Given the description of an element on the screen output the (x, y) to click on. 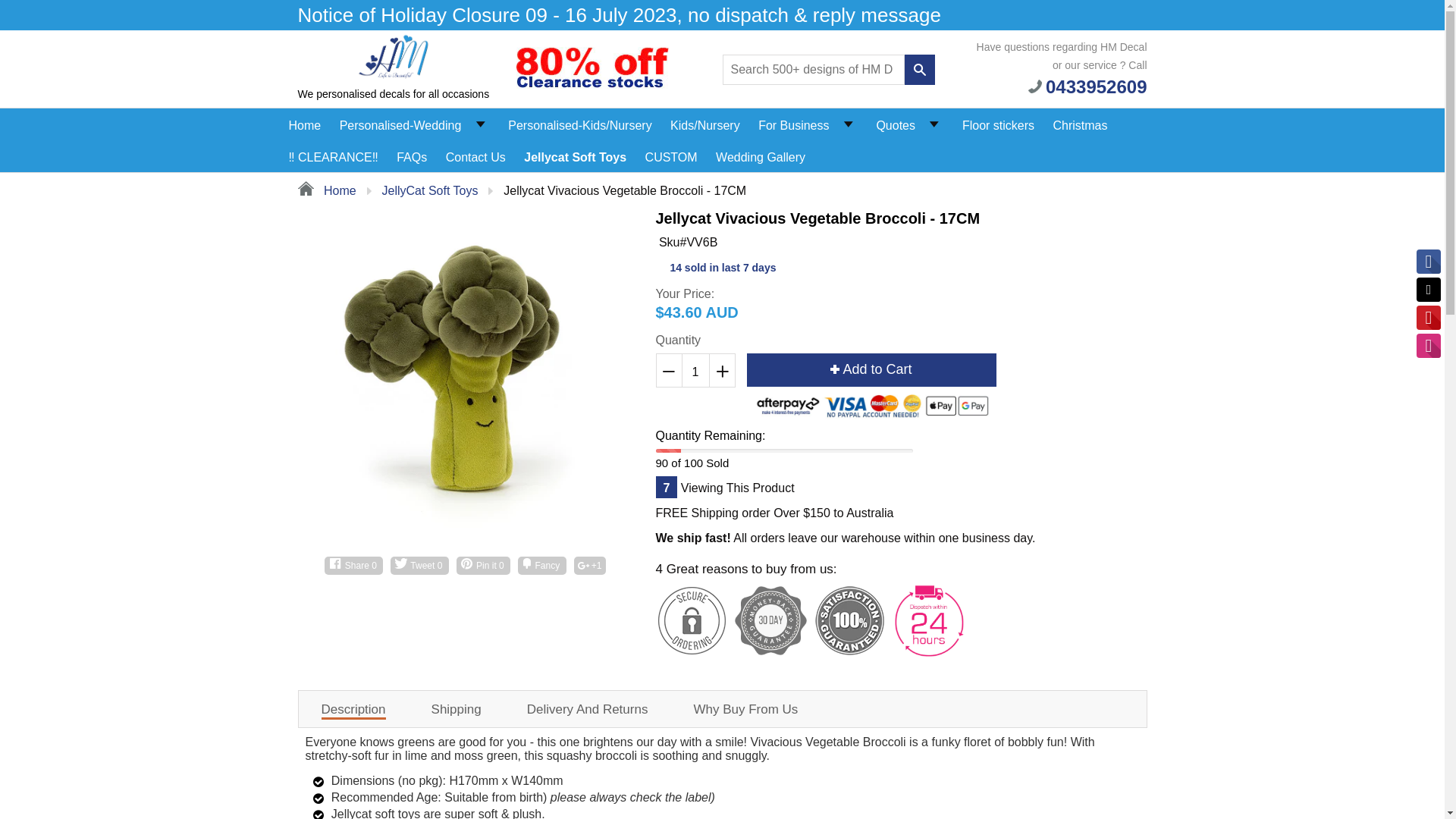
+1 Element type: text (589, 565)
Personalised-Wedding Element type: text (400, 121)
Christmas Element type: text (1079, 121)
Quotes Element type: text (895, 121)
Home Element type: text (304, 121)
Fancy Element type: text (541, 565)
Tweet 0 Element type: text (419, 565)
Jellycat Soft Toys Element type: text (574, 153)
Why Buy From Us Element type: text (745, 709)
Delivery And Returns Element type: text (587, 709)
Wedding Gallery Element type: text (760, 153)
CUSTOM Element type: text (671, 153)
FAQs Element type: text (411, 153)
Description Element type: text (353, 710)
Floor stickers Element type: text (998, 121)
Pin it 0 Element type: text (483, 565)
Kids/Nursery Element type: text (705, 121)
Share 0 Element type: text (353, 565)
JellyCat Soft Toys Element type: text (430, 190)
Add to Cart Element type: text (870, 369)
Contact Us Element type: text (475, 153)
For Business Element type: text (793, 121)
+
Increase item quantity by one Element type: text (721, 370)
Shipping Element type: text (456, 709)
 Home Element type: text (326, 190)
Personalised-Kids/Nursery Element type: text (579, 121)
